Given the description of an element on the screen output the (x, y) to click on. 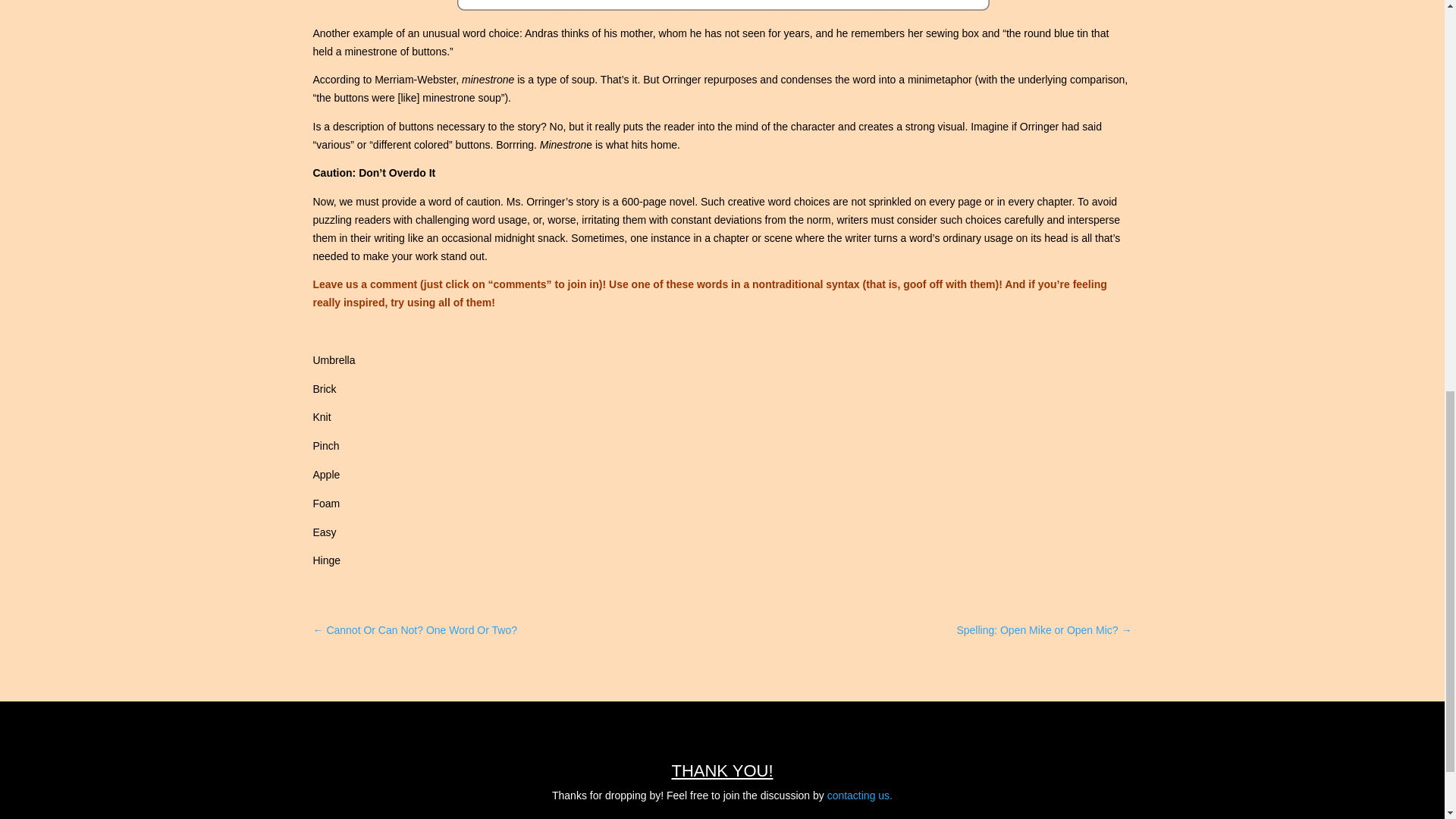
contacting us. (859, 795)
